Given the description of an element on the screen output the (x, y) to click on. 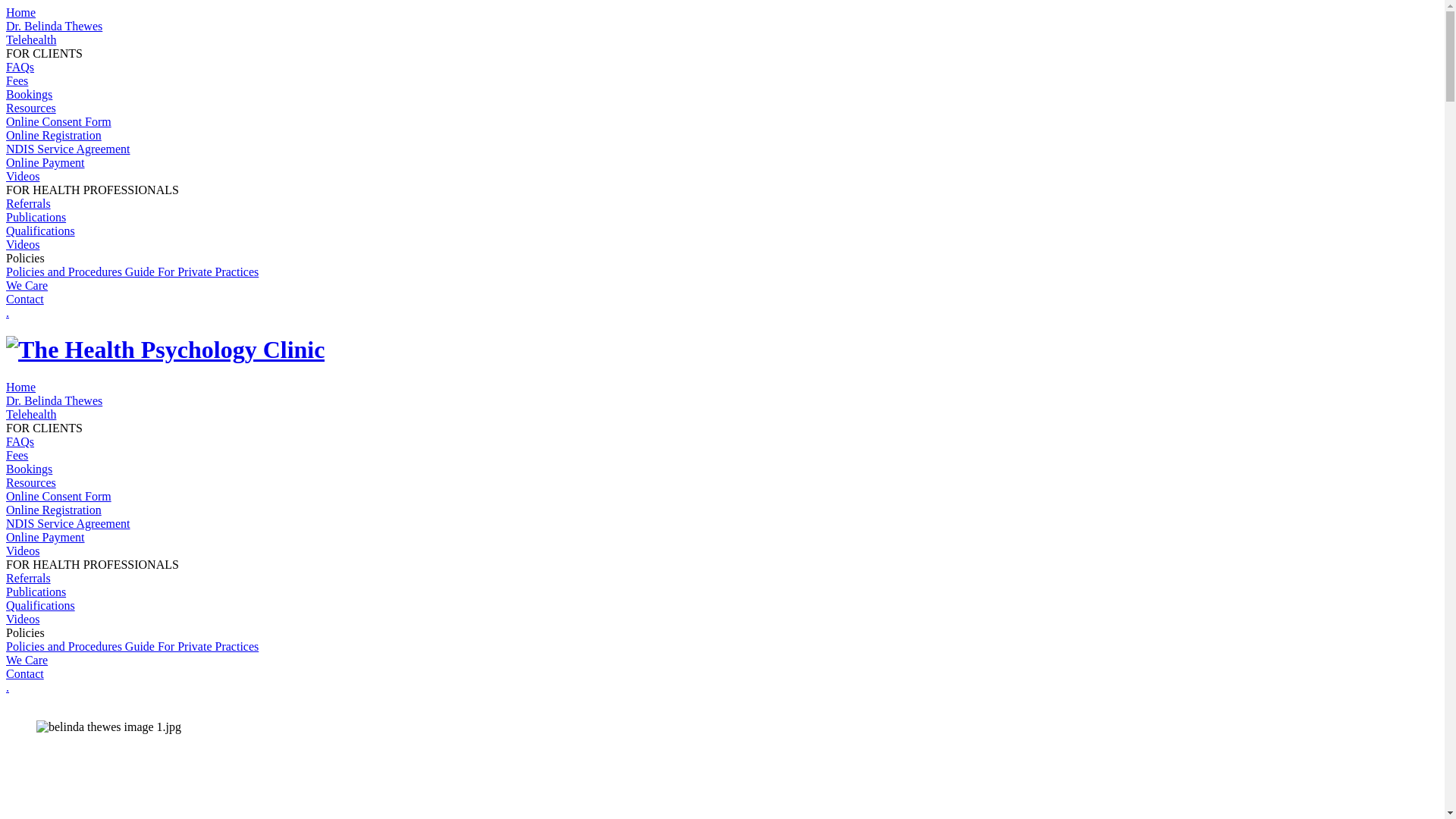
Online Registration Element type: text (53, 509)
Contact Element type: text (24, 298)
Online Payment Element type: text (45, 536)
FAQs Element type: text (20, 441)
Telehealth Element type: text (31, 39)
Qualifications Element type: text (40, 230)
Publications Element type: text (35, 216)
Videos Element type: text (22, 550)
Qualifications Element type: text (40, 605)
Policies and Procedures Guide For Private Practices Element type: text (132, 271)
Policies and Procedures Guide For Private Practices Element type: text (132, 646)
Contact Element type: text (24, 673)
. Element type: text (7, 686)
Home Element type: text (20, 12)
Referrals Element type: text (28, 577)
Telehealth Element type: text (31, 413)
We Care Element type: text (26, 659)
. Element type: text (7, 312)
Online Payment Element type: text (45, 162)
Home Element type: text (20, 386)
Resources Element type: text (31, 482)
Dr. Belinda Thewes Element type: text (54, 400)
Bookings Element type: text (29, 468)
Bookings Element type: text (29, 93)
FAQs Element type: text (20, 66)
Videos Element type: text (22, 618)
Resources Element type: text (31, 107)
Referrals Element type: text (28, 203)
We Care Element type: text (26, 285)
Online Consent Form Element type: text (58, 121)
NDIS Service Agreement Element type: text (68, 523)
NDIS Service Agreement Element type: text (68, 148)
Online Registration Element type: text (53, 134)
Fees Element type: text (17, 454)
Dr. Belinda Thewes Element type: text (54, 25)
Videos Element type: text (22, 244)
Online Consent Form Element type: text (58, 495)
Fees Element type: text (17, 80)
Videos Element type: text (22, 175)
Publications Element type: text (35, 591)
